Given the description of an element on the screen output the (x, y) to click on. 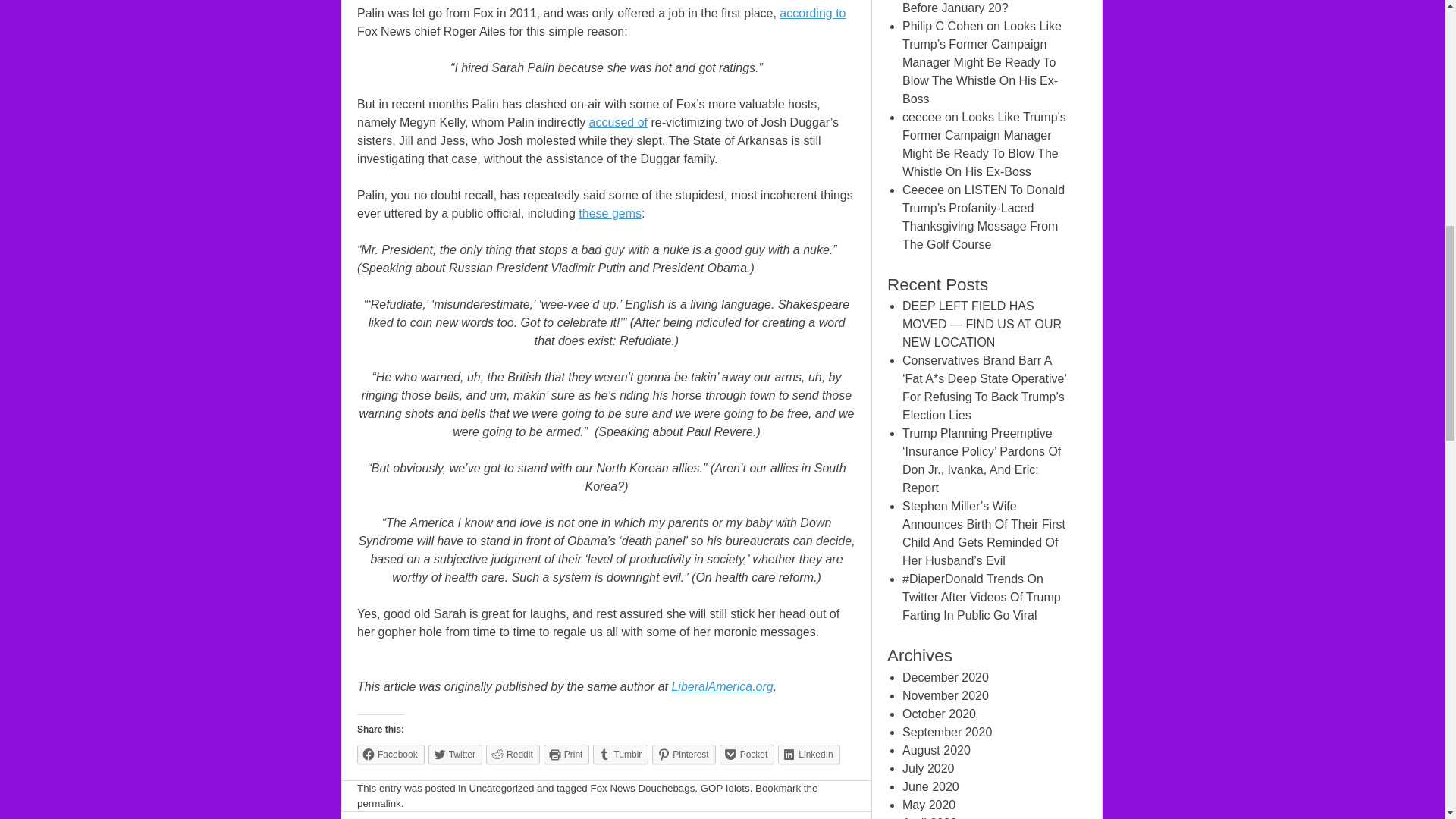
Reddit (513, 754)
Pocket (746, 754)
Pinterest (683, 754)
Click to share on Tumblr (619, 754)
Facebook (390, 754)
Click to print (566, 754)
Click to share on LinkedIn (808, 754)
LinkedIn (808, 754)
these gems (610, 213)
permalink (378, 803)
Tumblr (619, 754)
Click to share on Facebook (390, 754)
according to (811, 12)
Click to share on Reddit (513, 754)
